Given the description of an element on the screen output the (x, y) to click on. 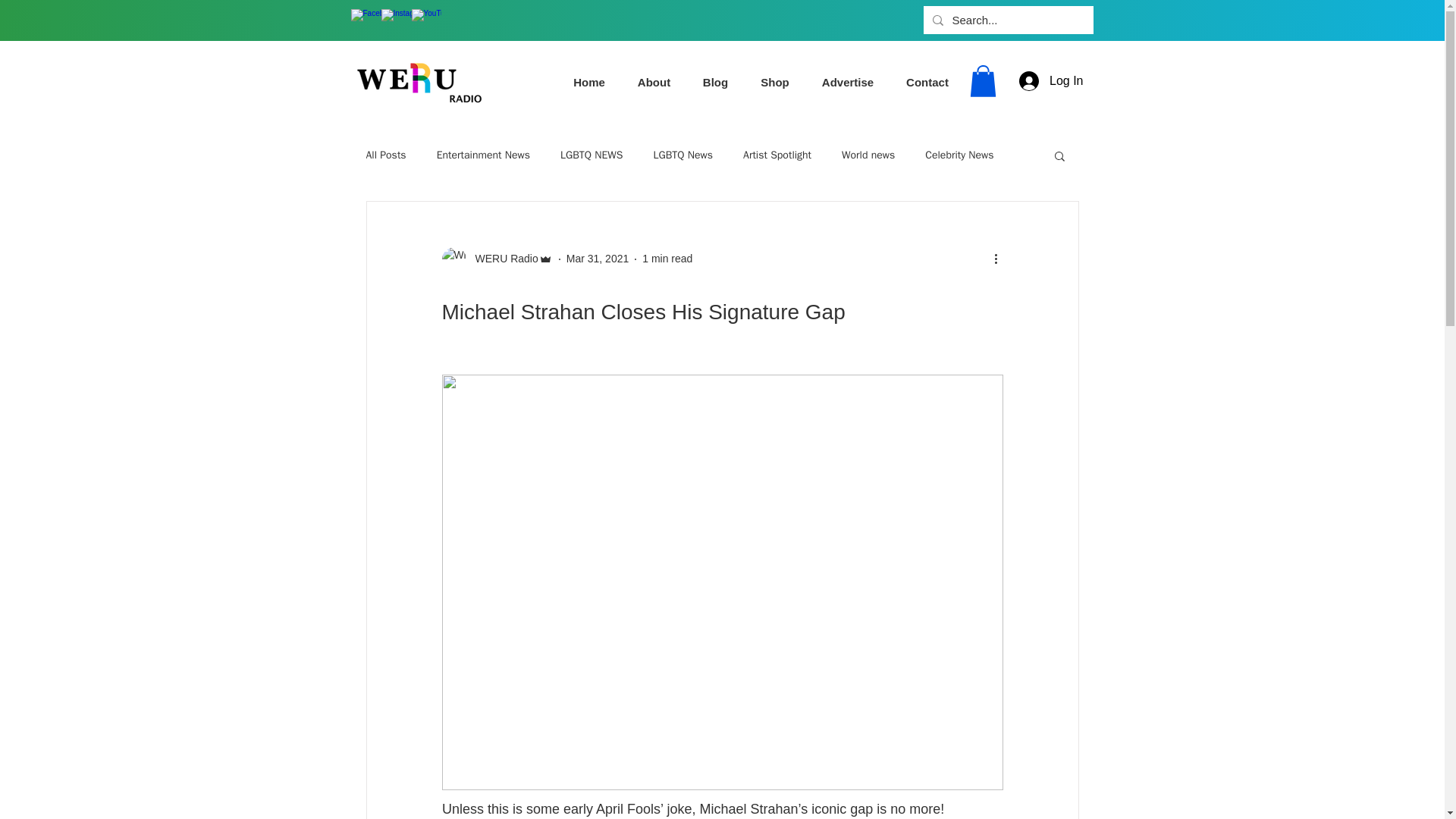
Contact (927, 82)
Mar 31, 2021 (597, 258)
Artist Spotlight (776, 155)
World news (868, 155)
All Posts (385, 155)
Home (588, 82)
Log In (1051, 81)
LGBTQ NEWS (591, 155)
Advertise (847, 82)
About (654, 82)
